Given the description of an element on the screen output the (x, y) to click on. 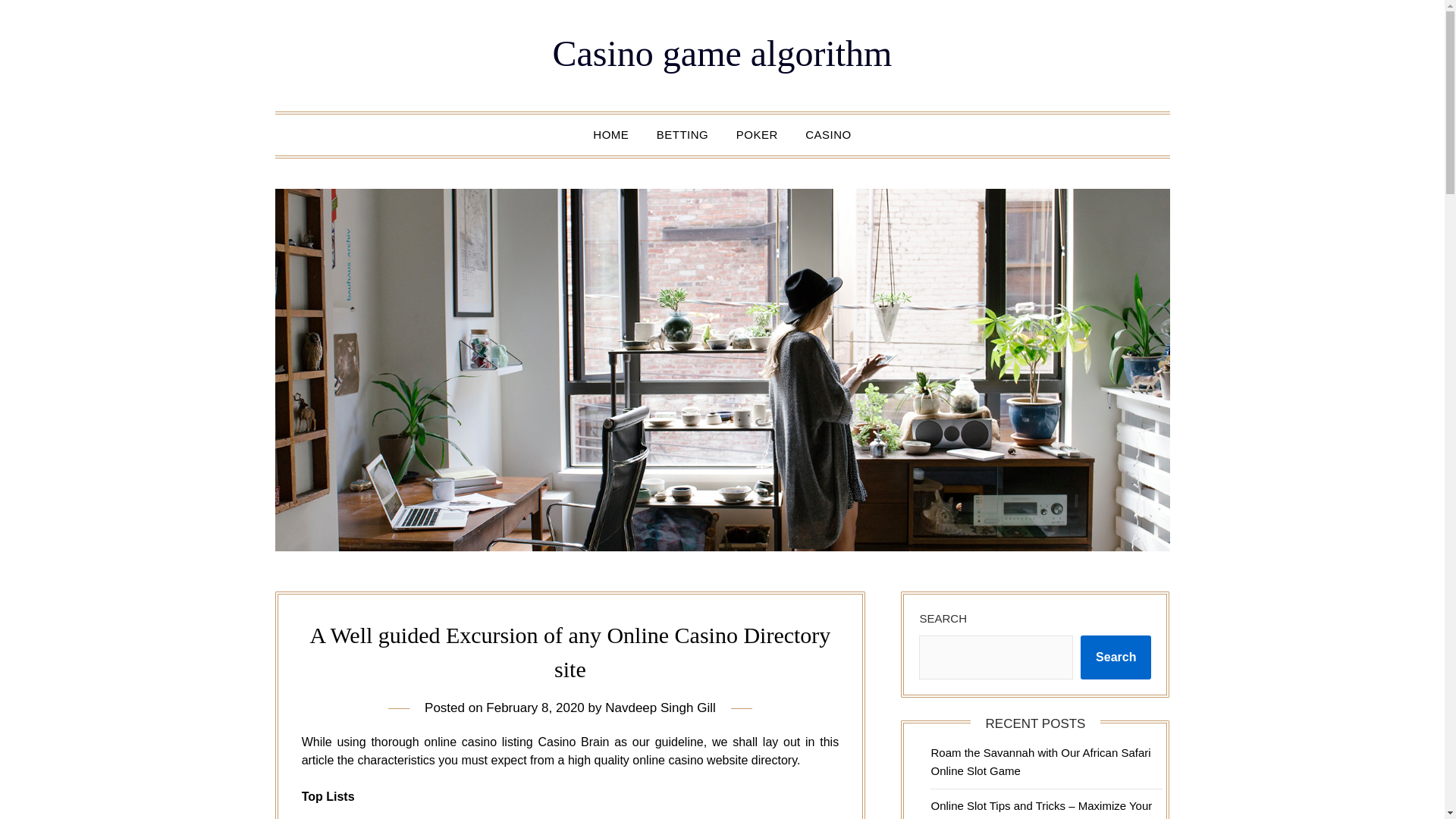
Roam the Savannah with Our African Safari Online Slot Game (1040, 761)
Navdeep Singh Gill (660, 707)
HOME (610, 134)
POKER (756, 134)
Casino game algorithm (722, 53)
BETTING (682, 134)
February 8, 2020 (534, 707)
Search (1115, 657)
CASINO (828, 134)
